Given the description of an element on the screen output the (x, y) to click on. 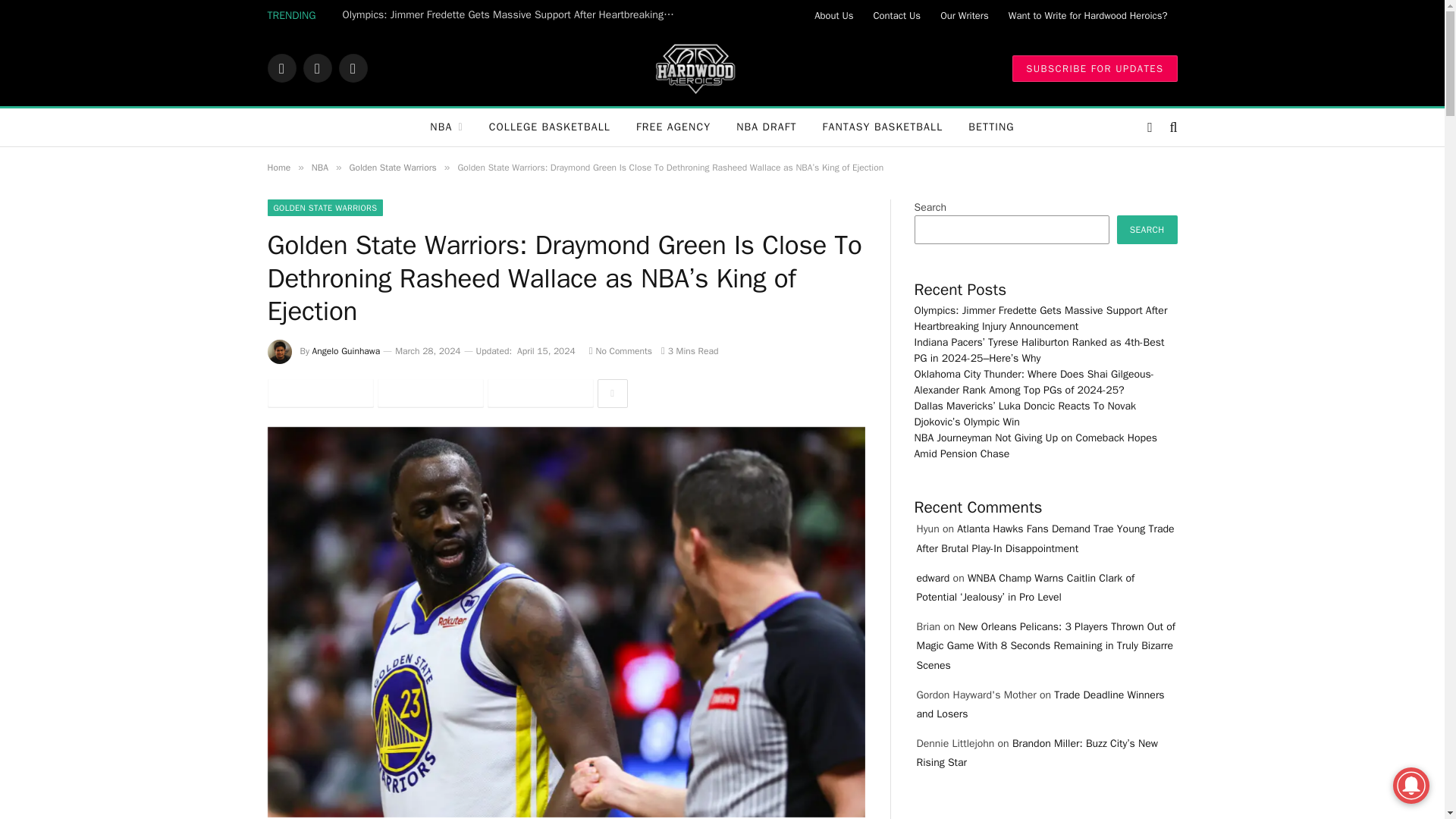
Share on Pinterest (539, 393)
Contact Us (897, 15)
Show More Social Sharing (611, 393)
Facebook (280, 68)
Want to Write for Hardwood Heroics? (1087, 15)
Twitter (316, 68)
Instagram (351, 68)
SUBSCRIBE FOR UPDATES (1093, 67)
Posts by Angelo Guinhawa (346, 350)
